Given the description of an element on the screen output the (x, y) to click on. 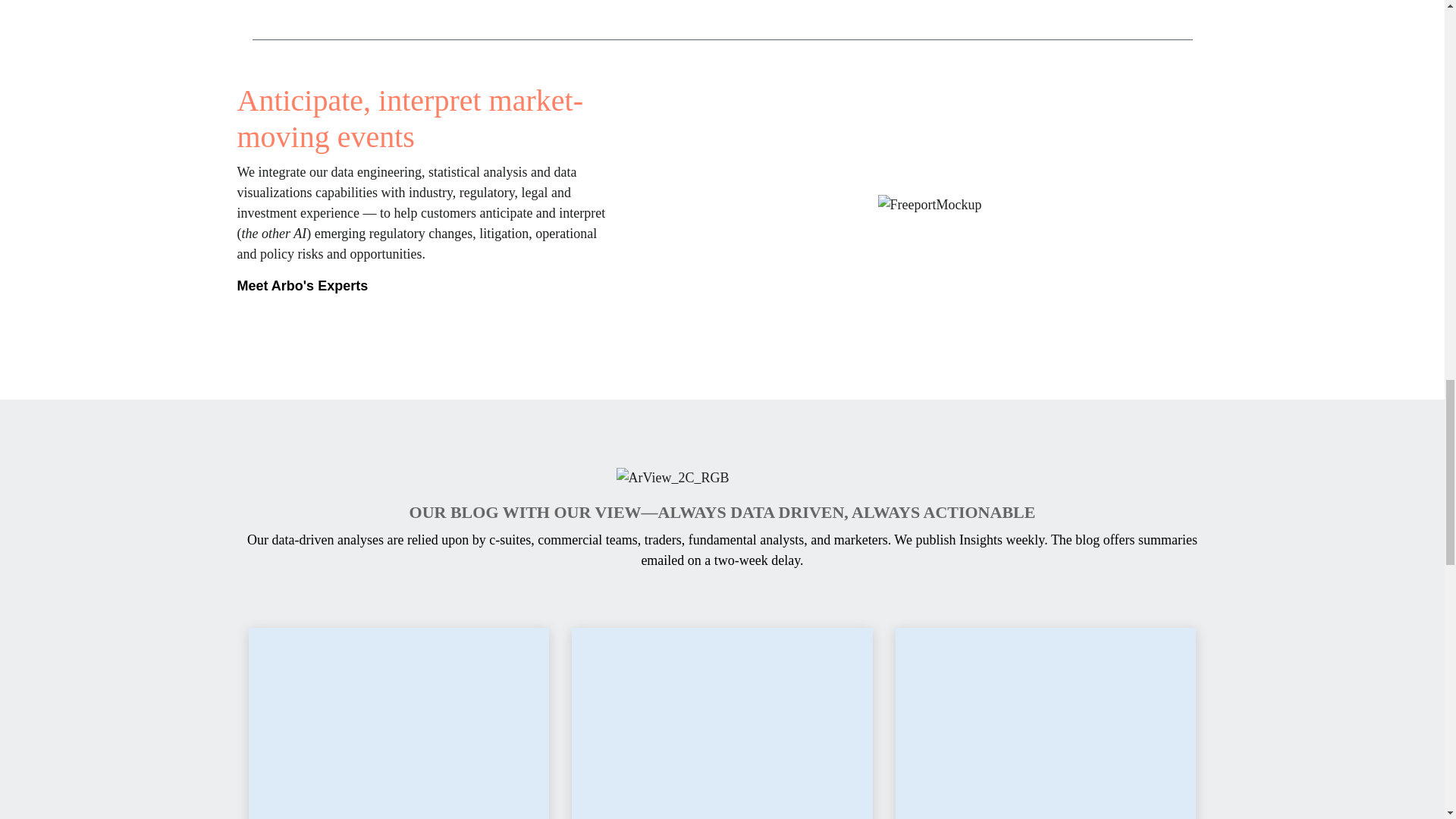
FreeportMockup (929, 204)
